Given the description of an element on the screen output the (x, y) to click on. 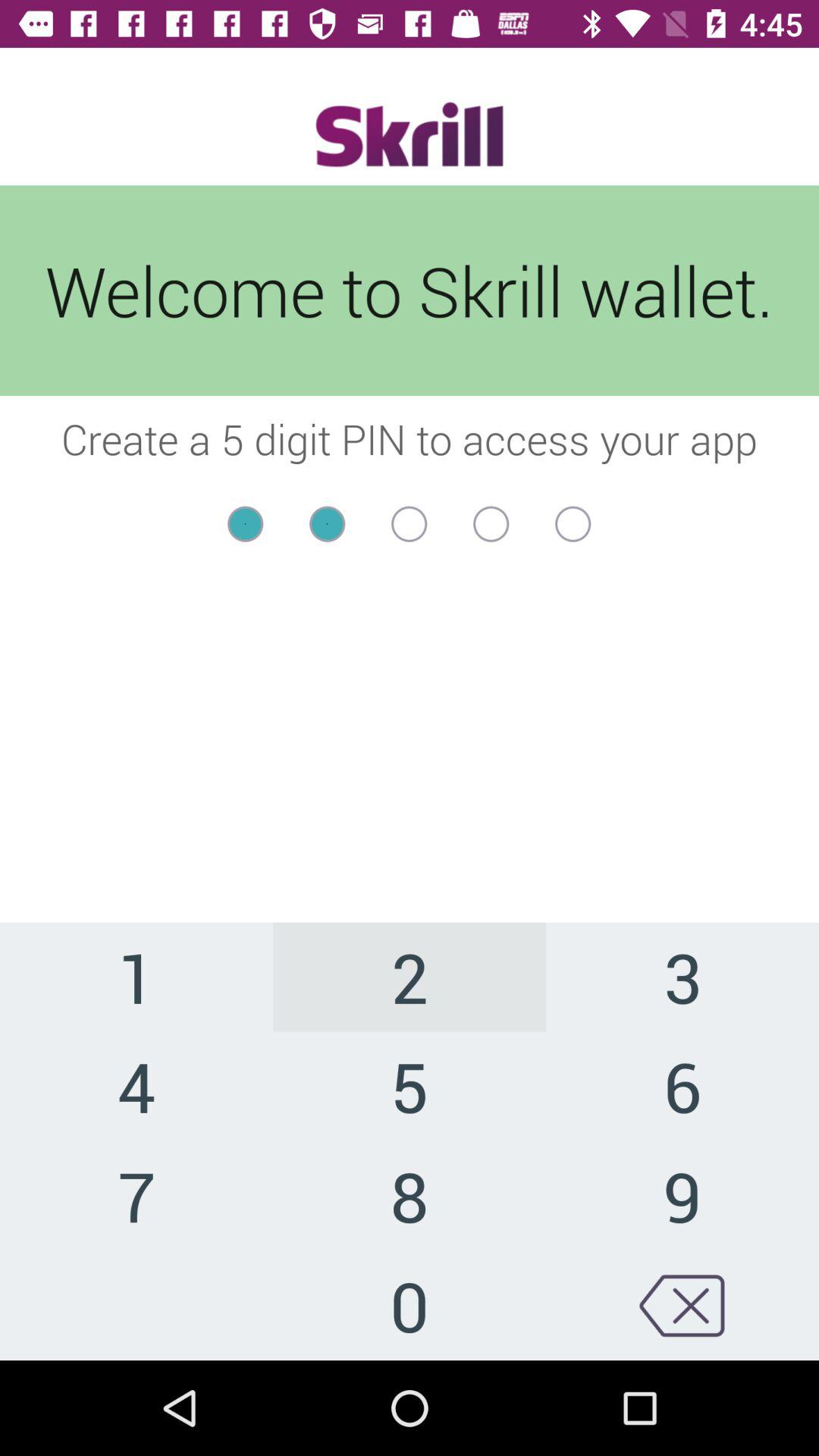
choose icon next to the 2 icon (682, 1085)
